Given the description of an element on the screen output the (x, y) to click on. 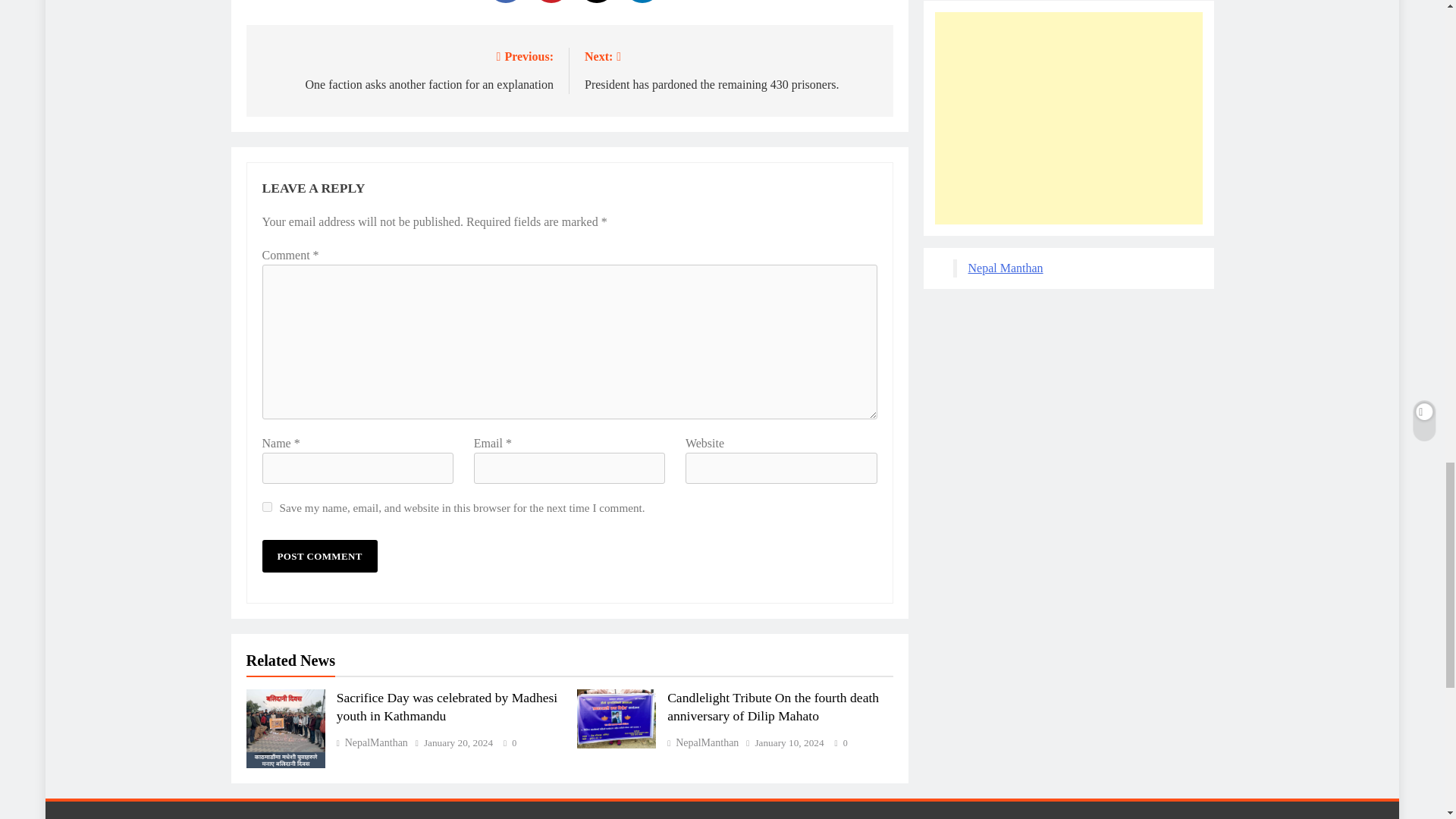
Post Comment (731, 68)
yes (319, 555)
Post Comment (267, 506)
